Given the description of an element on the screen output the (x, y) to click on. 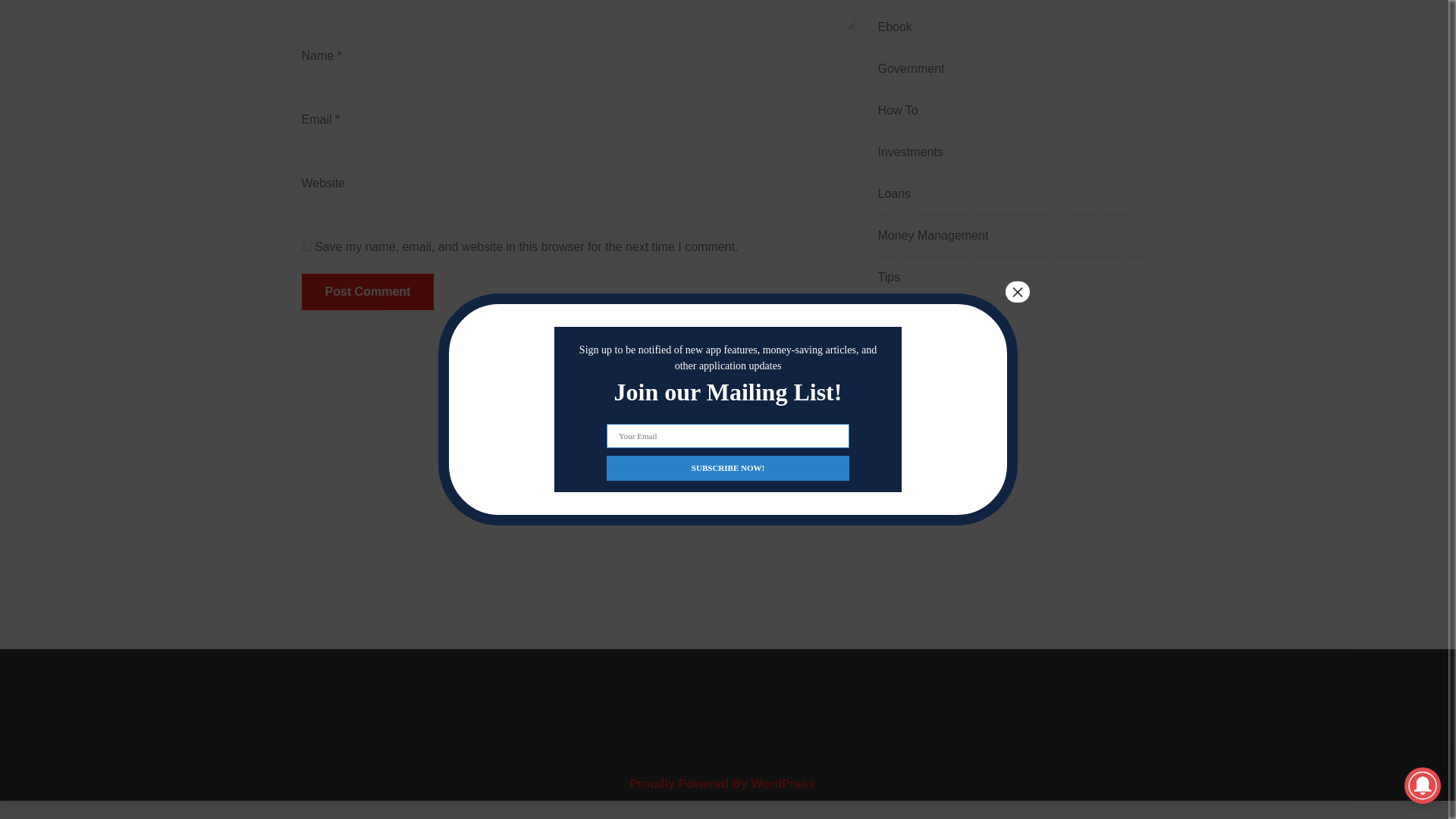
Post Comment (367, 291)
